Given the description of an element on the screen output the (x, y) to click on. 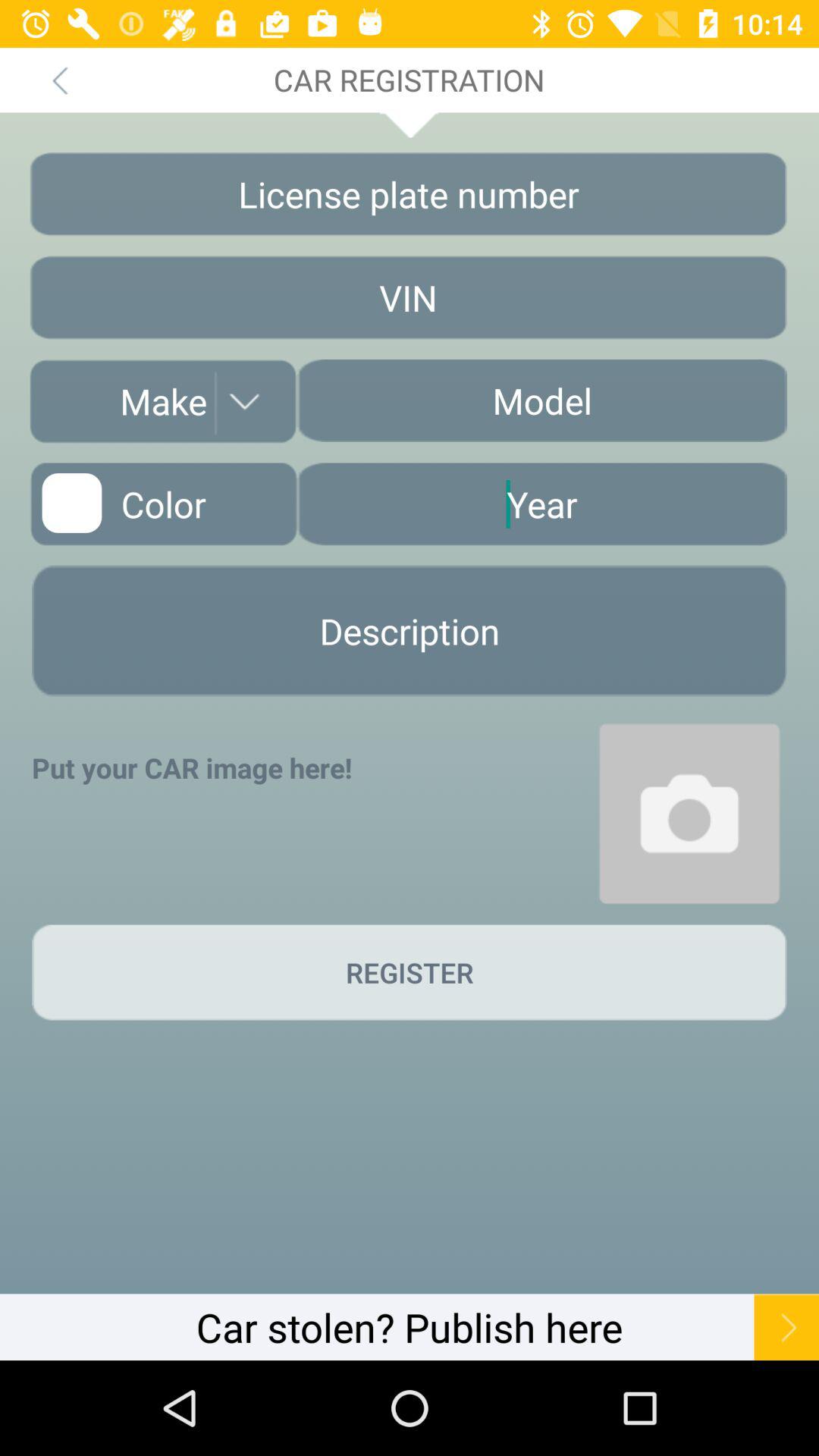
go to previous (59, 79)
